Given the description of an element on the screen output the (x, y) to click on. 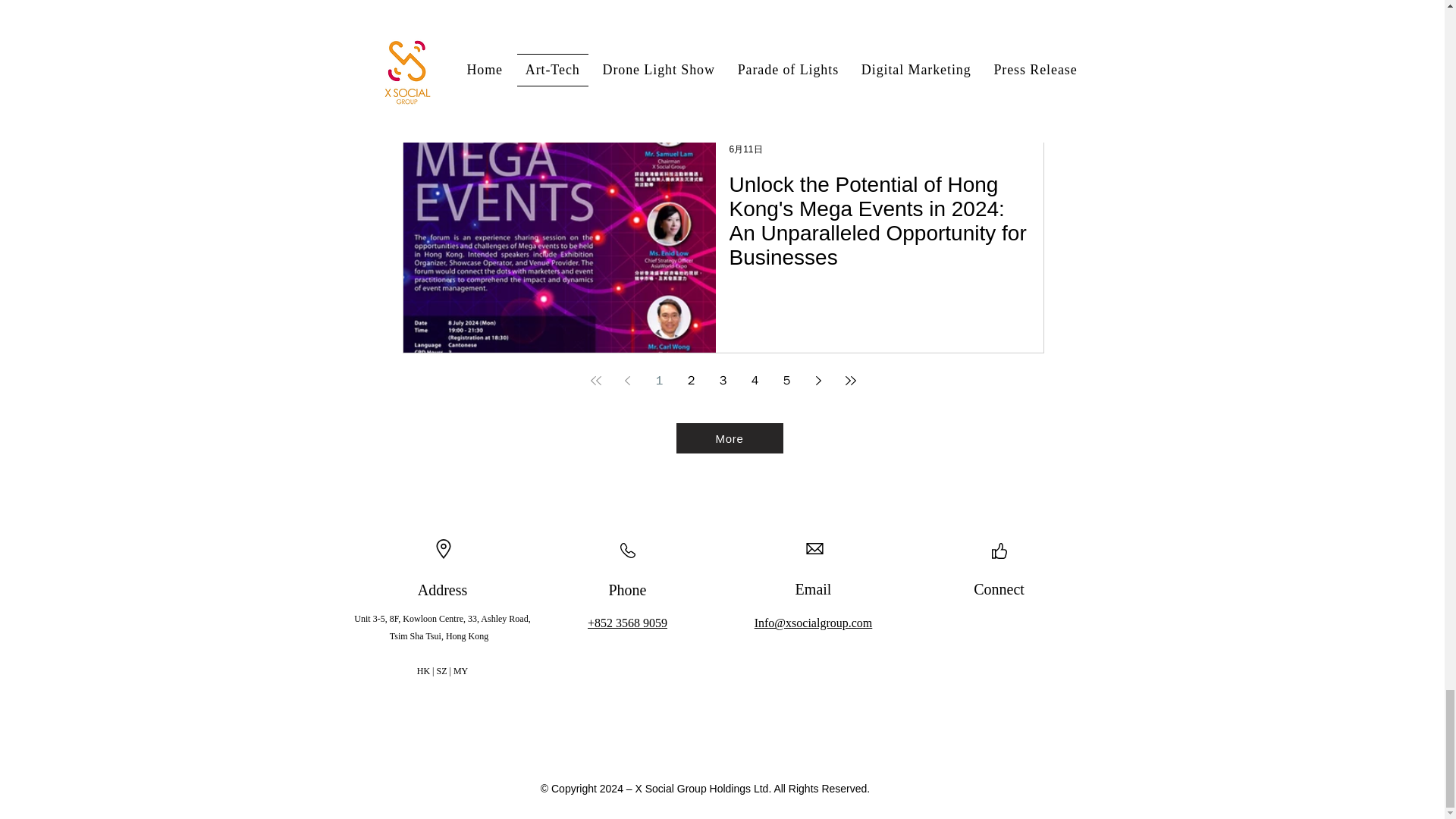
2 (691, 379)
5 (786, 379)
3 (723, 379)
More (730, 438)
4 (754, 379)
